Given the description of an element on the screen output the (x, y) to click on. 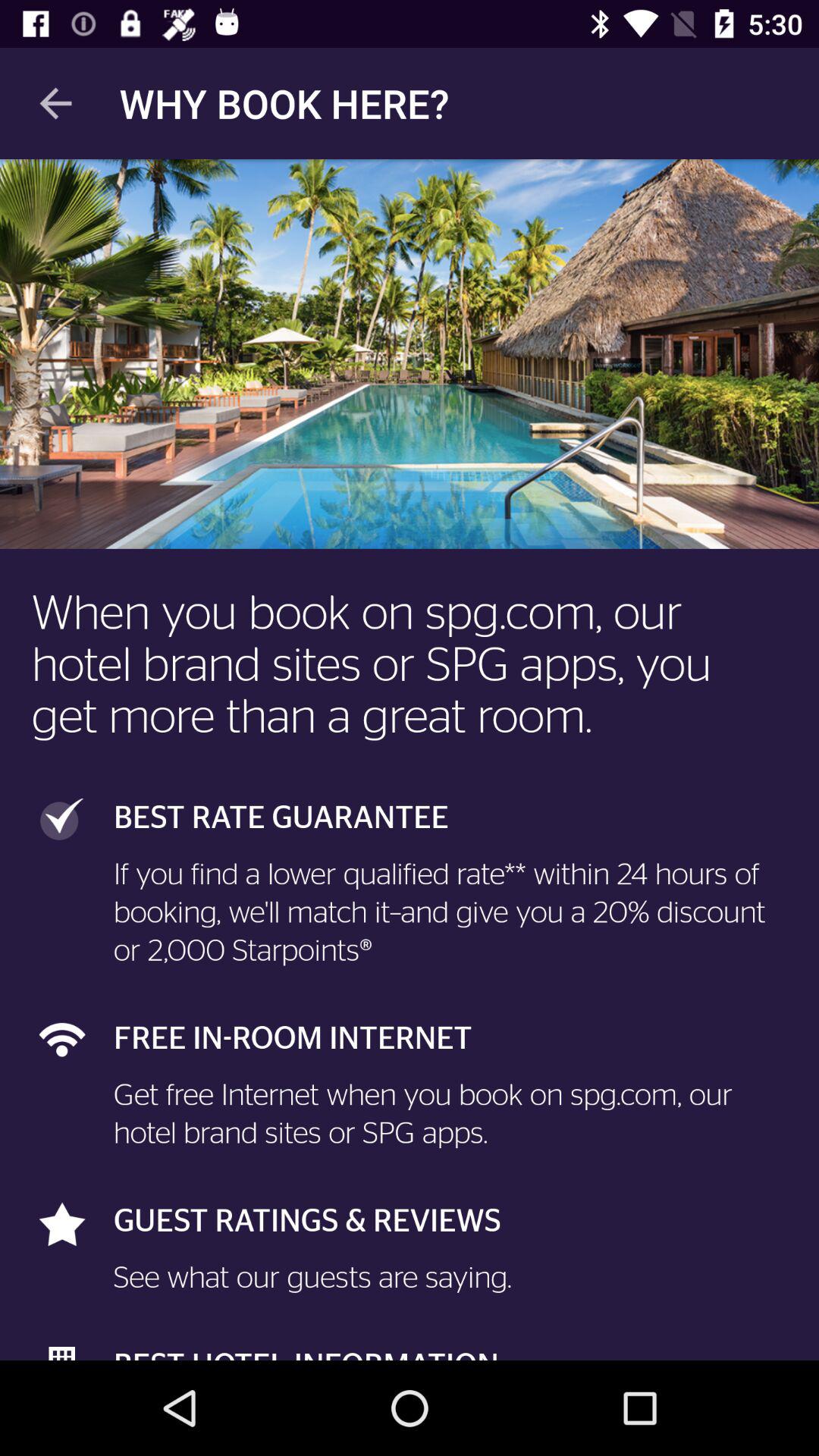
choose the app to the left of the why book here? icon (55, 103)
